Given the description of an element on the screen output the (x, y) to click on. 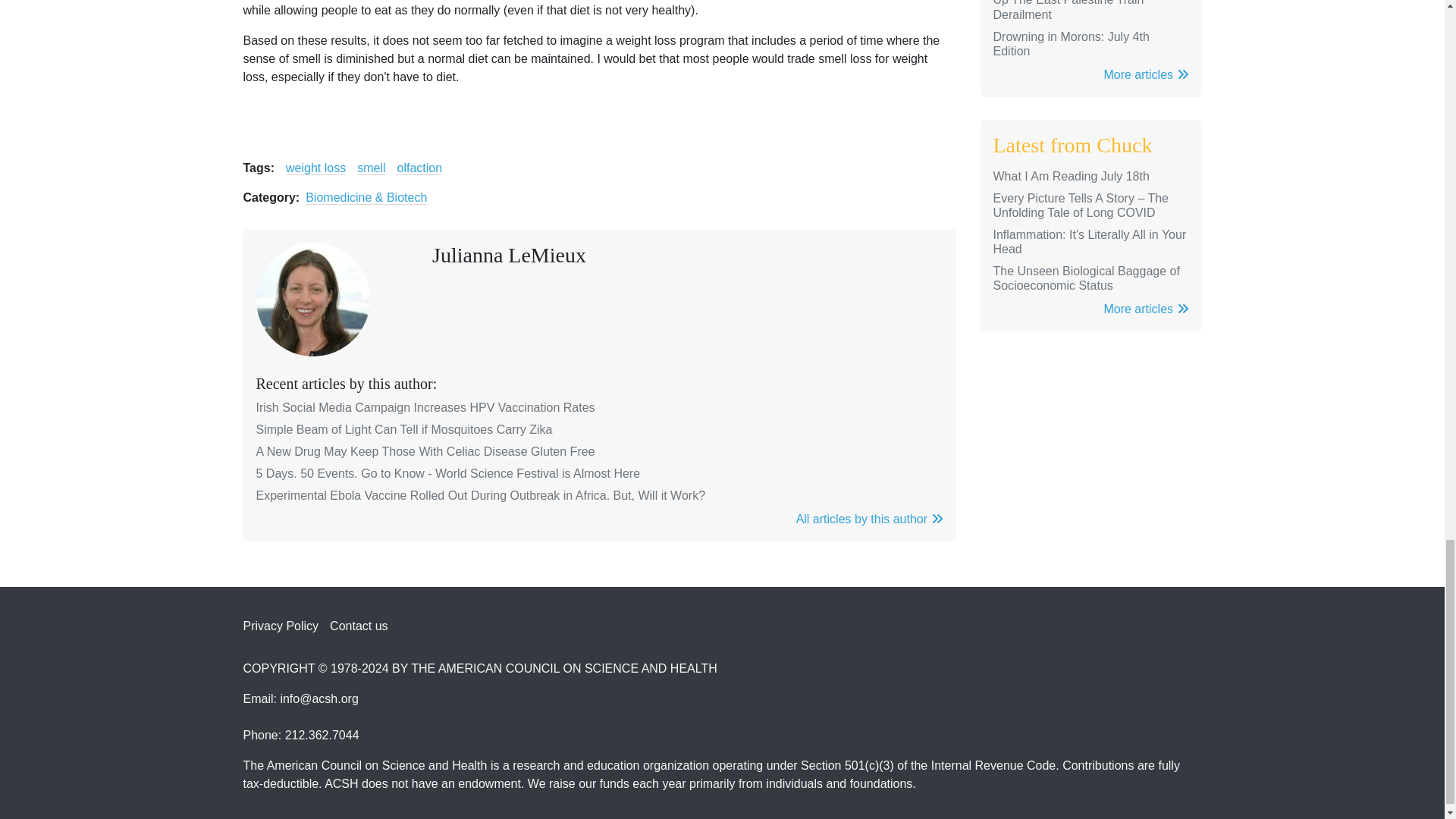
weight loss (315, 168)
smell (370, 168)
olfaction (419, 168)
